Given the description of an element on the screen output the (x, y) to click on. 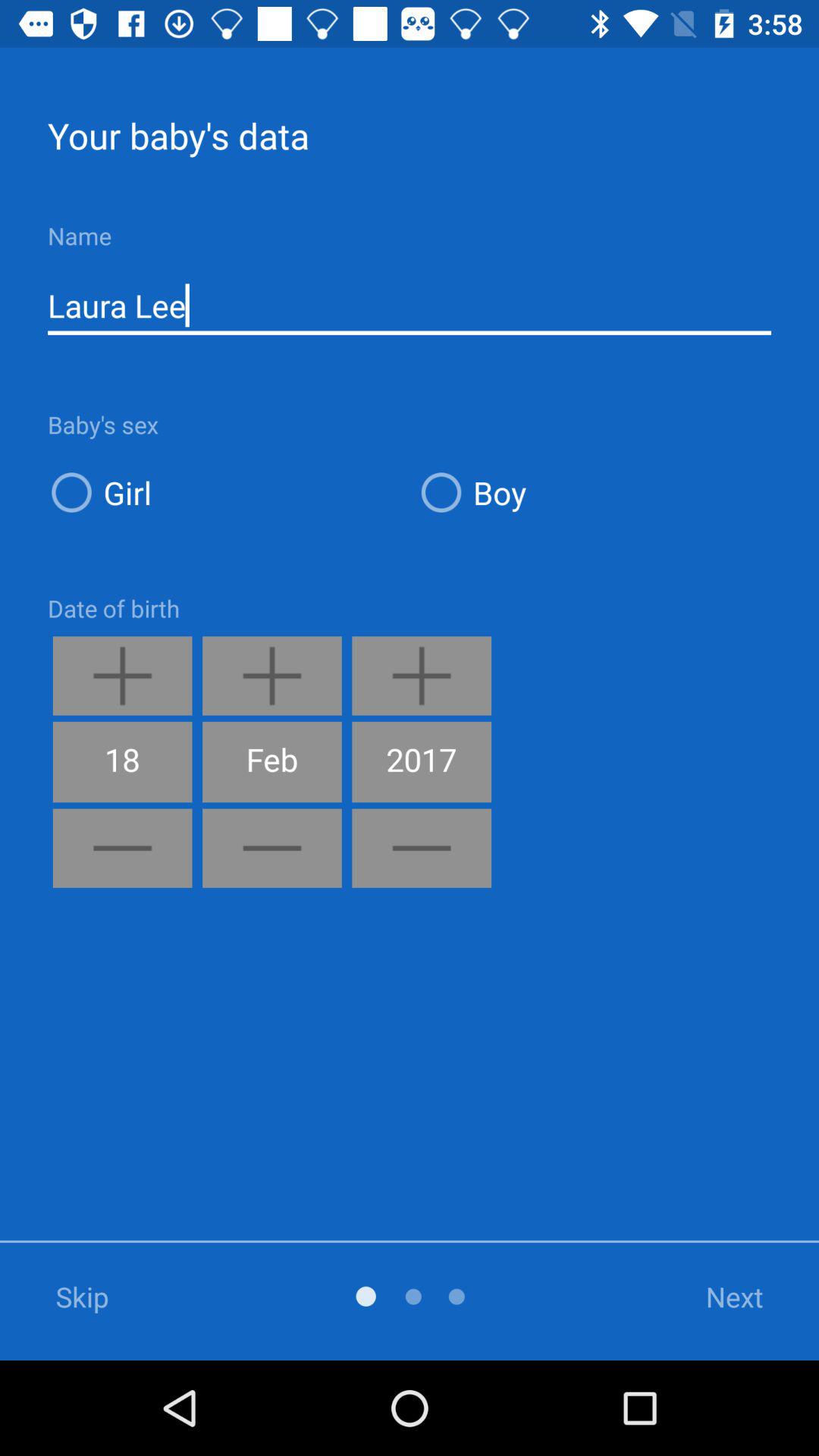
choose the girl icon (224, 492)
